Given the description of an element on the screen output the (x, y) to click on. 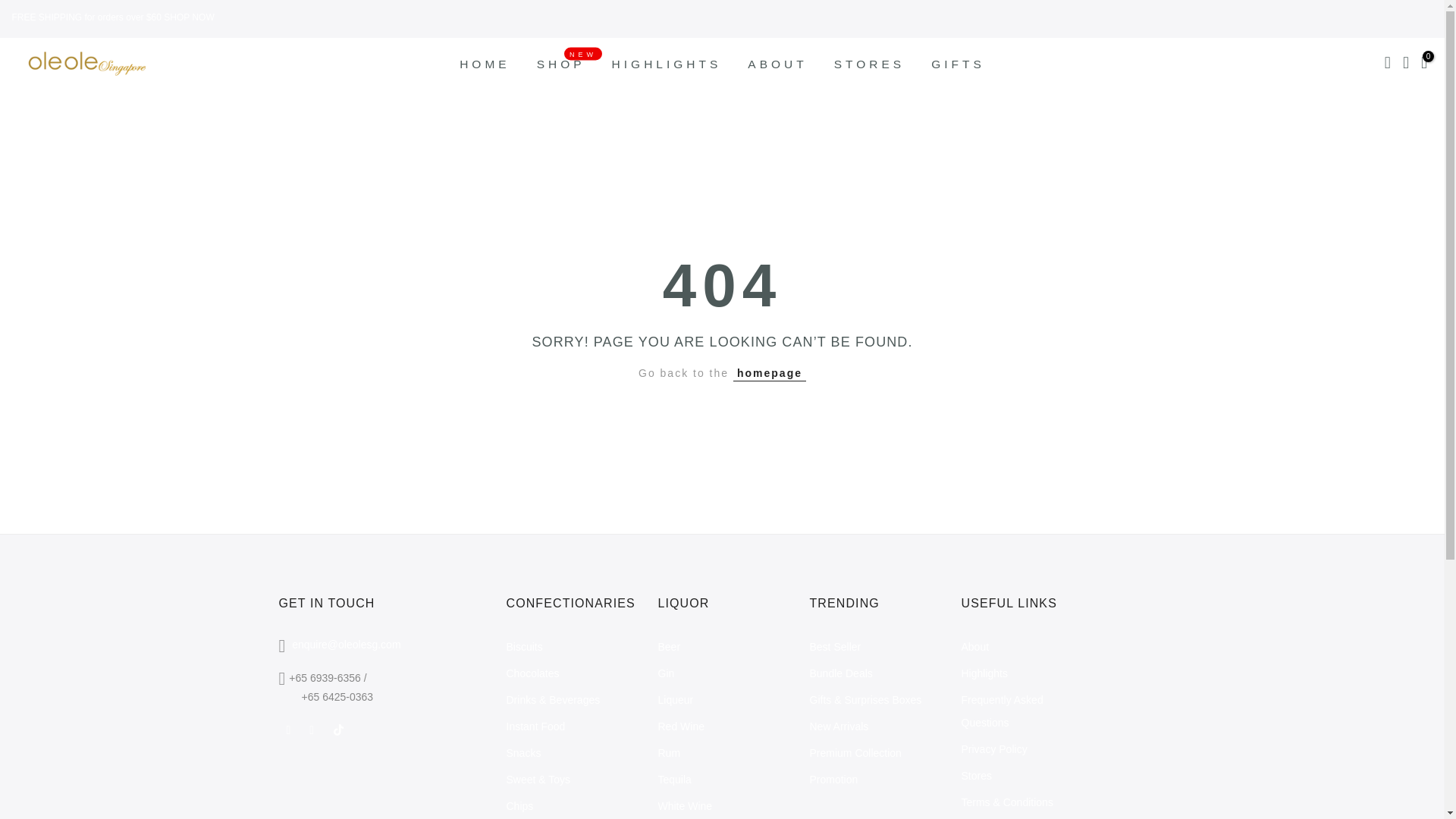
HOME (485, 63)
ABOUT (778, 63)
STORES (869, 63)
SHOP NOW (188, 17)
GIFTS (560, 63)
HIGHLIGHTS (958, 63)
PROMOTION (666, 63)
